Given the description of an element on the screen output the (x, y) to click on. 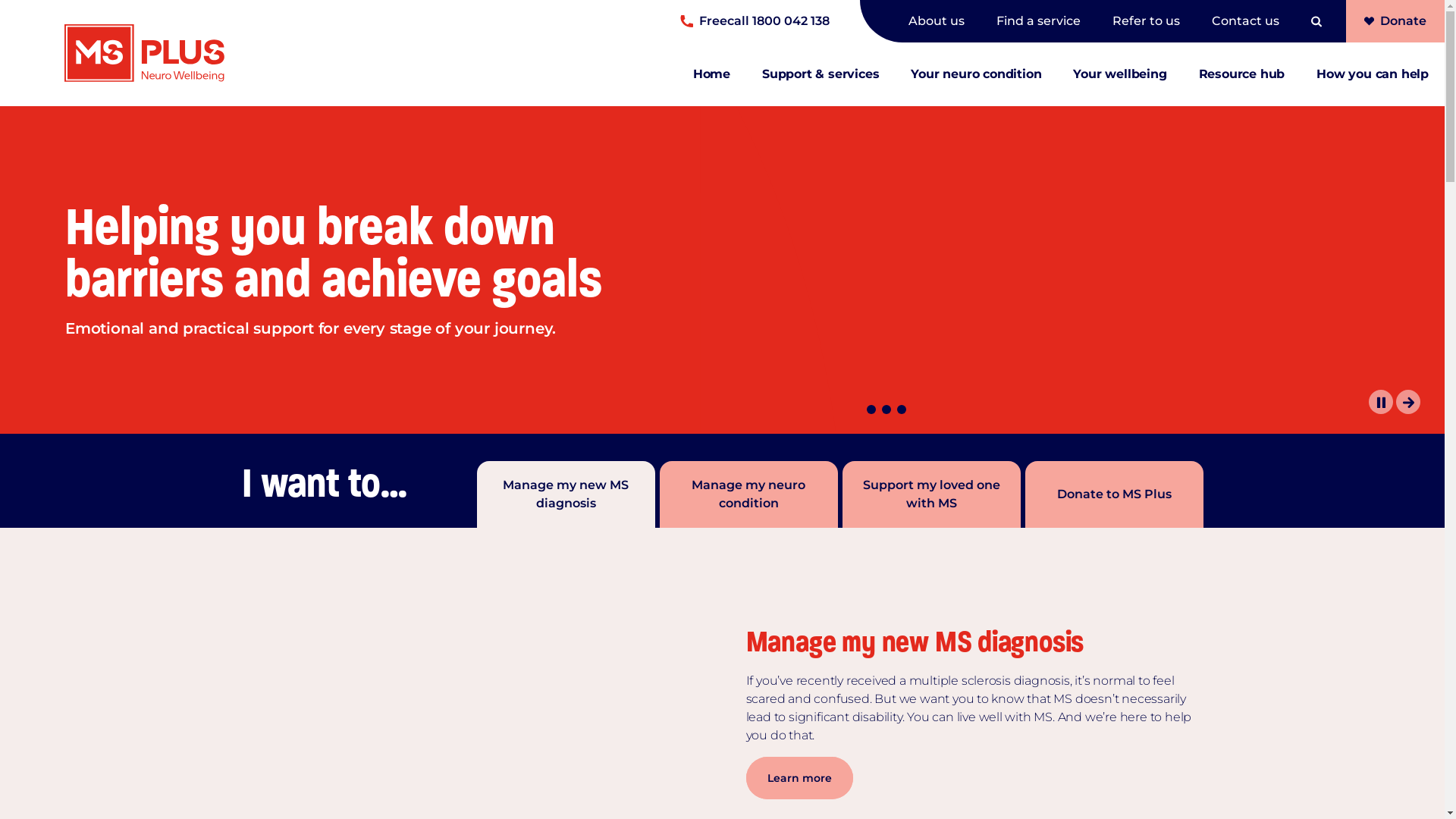
Resource hub Element type: text (1242, 85)
site logo Element type: text (112, 52)
Home Element type: text (711, 85)
Support & services Element type: text (820, 85)
Freecall 1800 042 138 Element type: text (754, 21)
pause button Element type: text (1380, 401)
Refer to us Element type: text (1154, 21)
About us Element type: text (944, 21)
Support my loved one with MS Element type: text (930, 494)
Contact us Element type: text (1241, 21)
Donate to MS Plus Element type: text (1114, 494)
Find a service Element type: text (1046, 21)
Donate Element type: text (1395, 21)
Manage my neuro condition Element type: text (748, 494)
Your wellbeing Element type: text (1119, 85)
Manage my new MS diagnosis Element type: text (565, 494)
next button Element type: text (1408, 401)
Your neuro condition Element type: text (975, 85)
How you can help Element type: text (1372, 85)
search Element type: text (1316, 21)
Learn more Element type: text (798, 777)
